Given the description of an element on the screen output the (x, y) to click on. 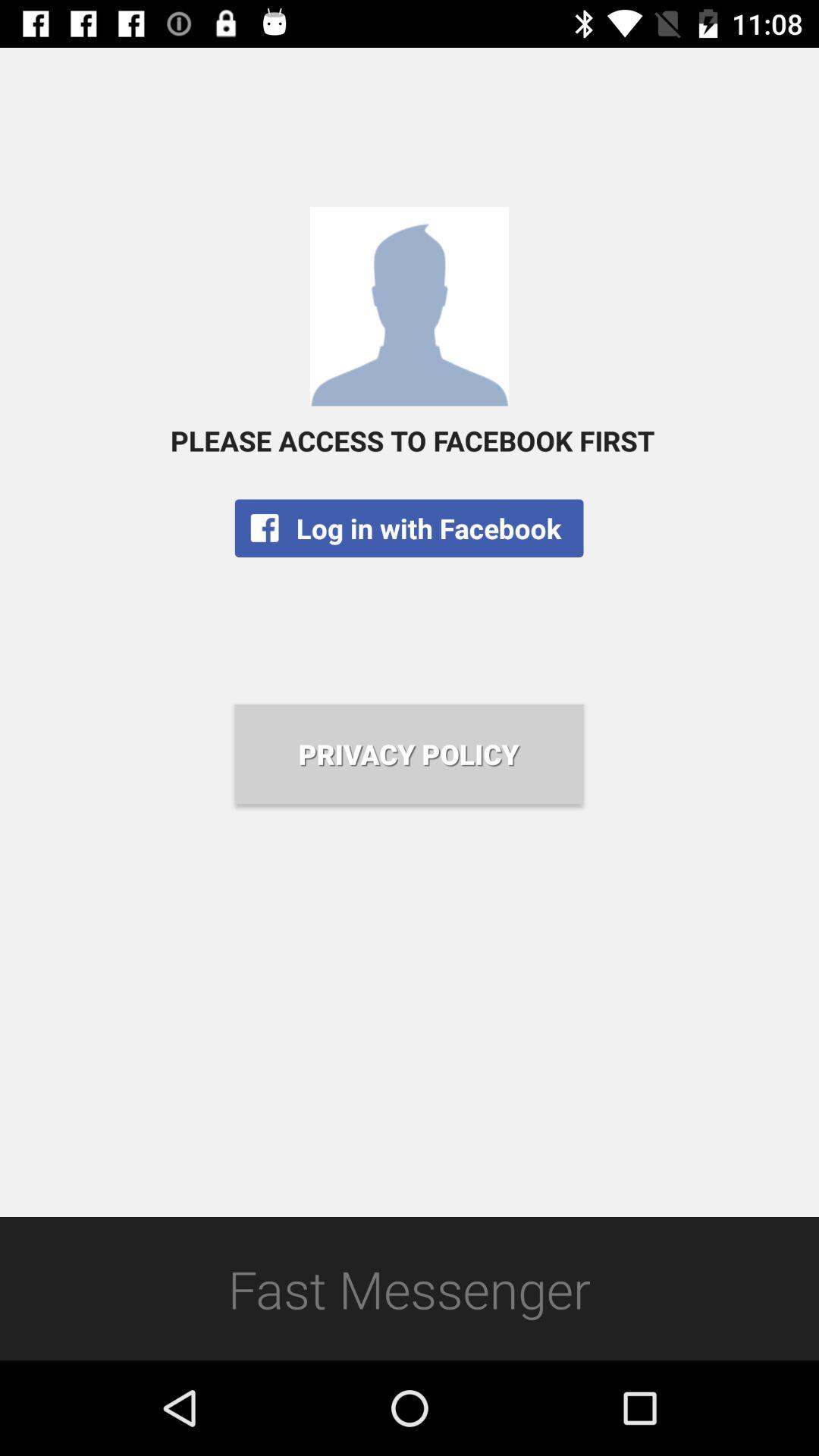
turn off item above privacy policy button (408, 528)
